Given the description of an element on the screen output the (x, y) to click on. 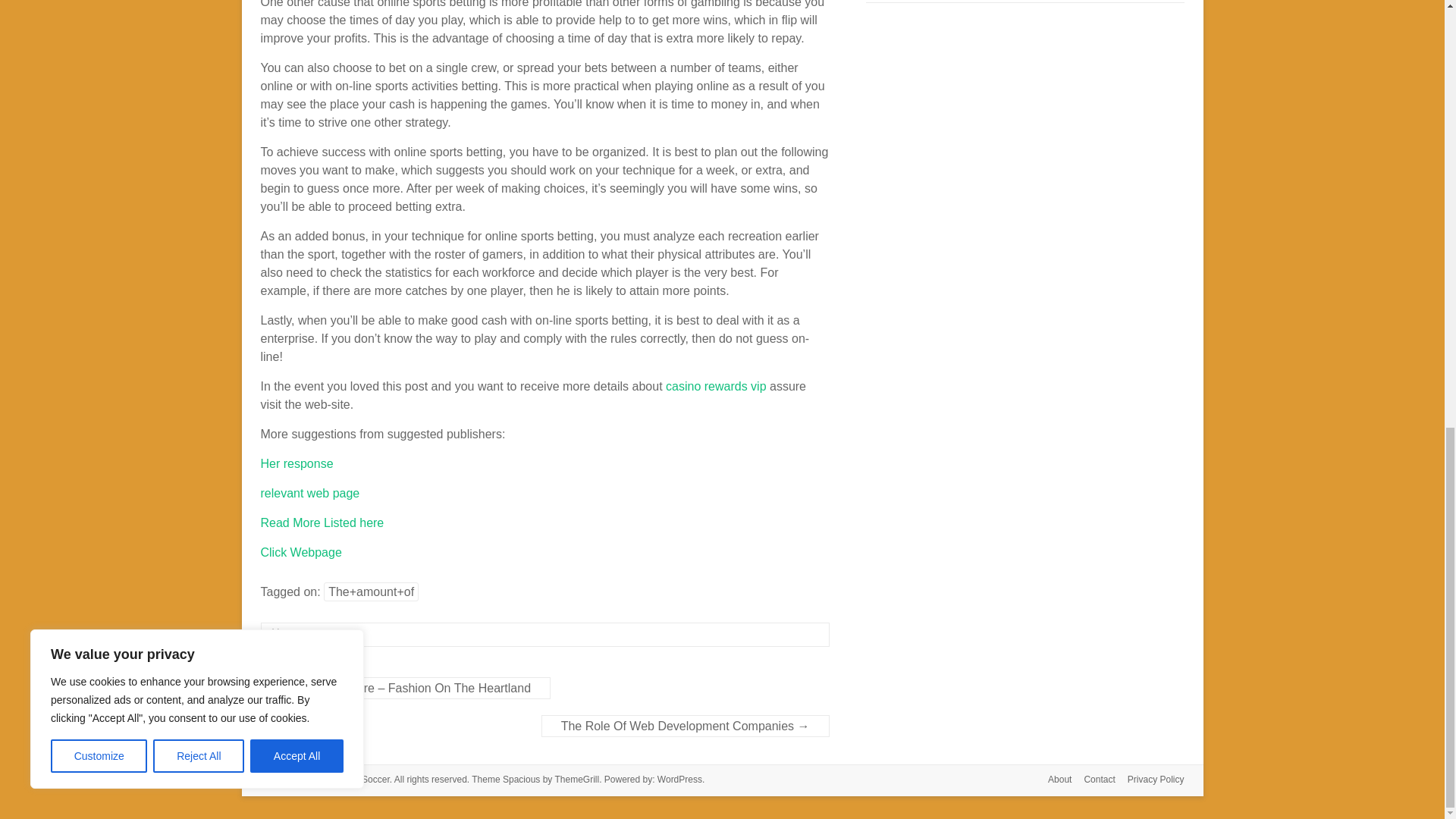
Spacious (521, 778)
Read More Listed here (322, 522)
Click Webpage (301, 552)
Friday Soccer (360, 778)
General (330, 634)
relevant web page (309, 492)
WordPress (679, 778)
casino rewards vip (716, 386)
Her response (296, 463)
